Given the description of an element on the screen output the (x, y) to click on. 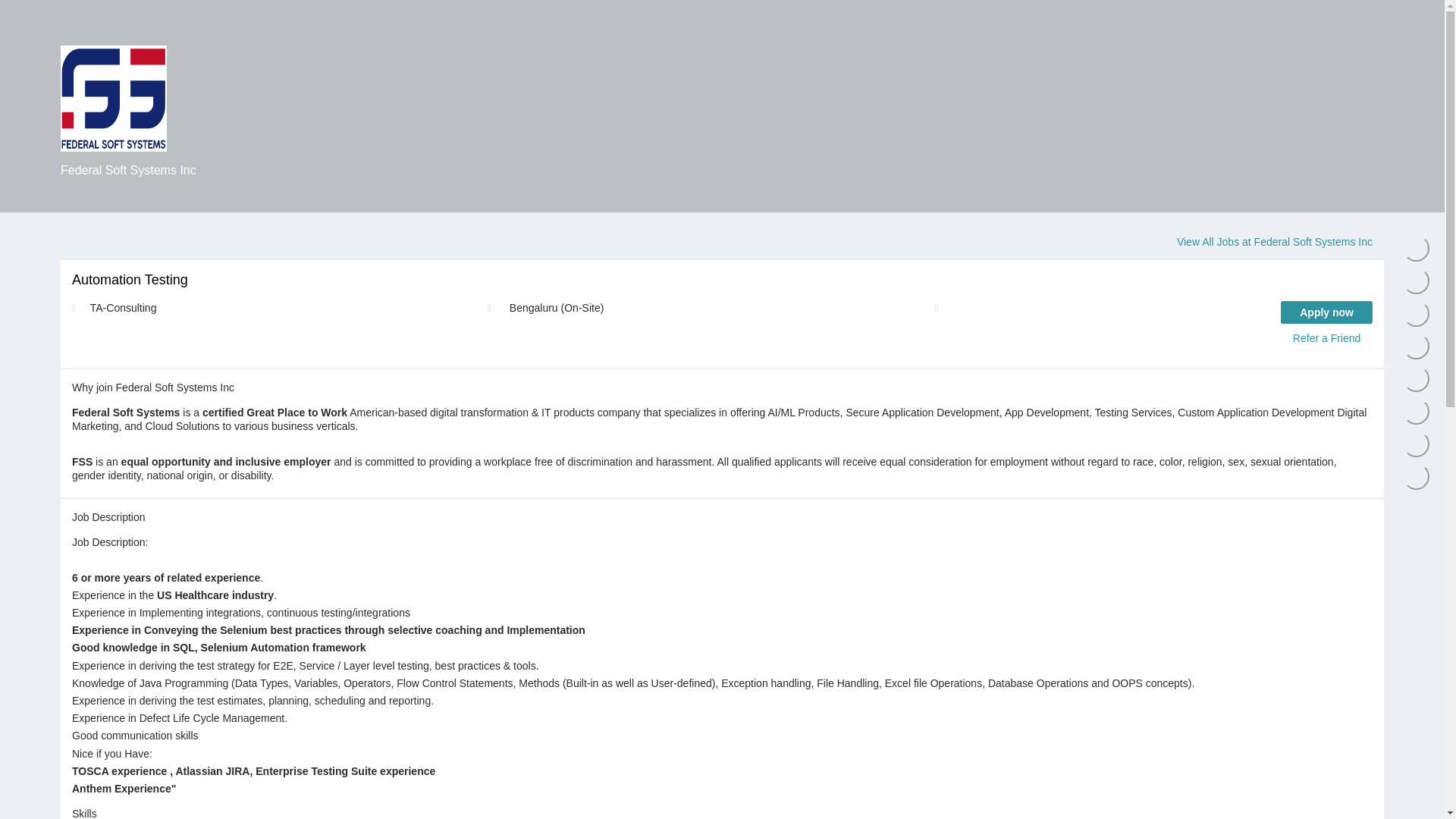
Apply now (1327, 312)
